Given the description of an element on the screen output the (x, y) to click on. 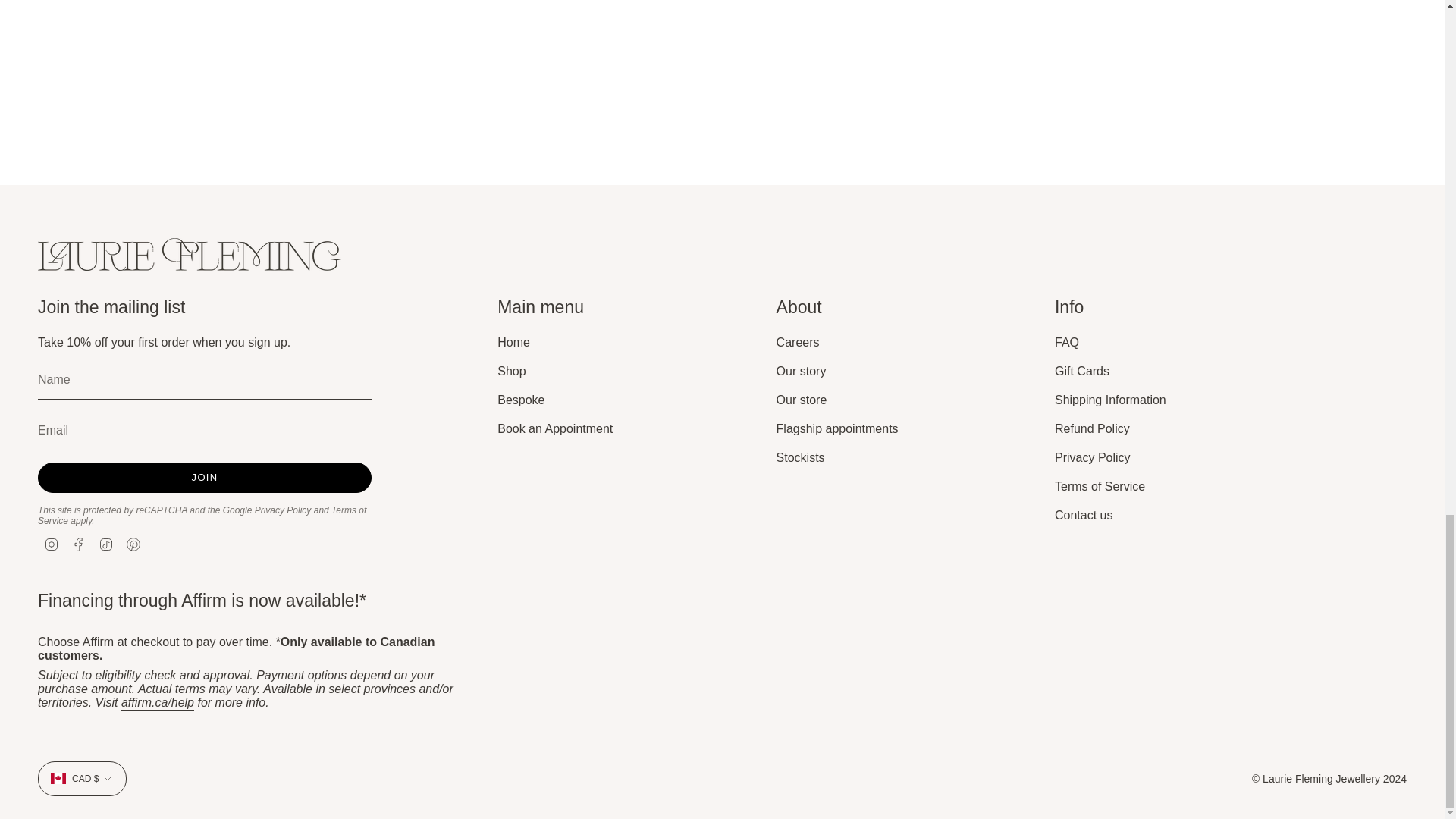
Laurie Fleming Jewellery on TikTok (106, 543)
Laurie Fleming Jewellery on Facebook (78, 543)
Laurie Fleming Jewellery on Instagram (51, 543)
Laurie Fleming Jewellery on Pinterest (133, 543)
